Given the description of an element on the screen output the (x, y) to click on. 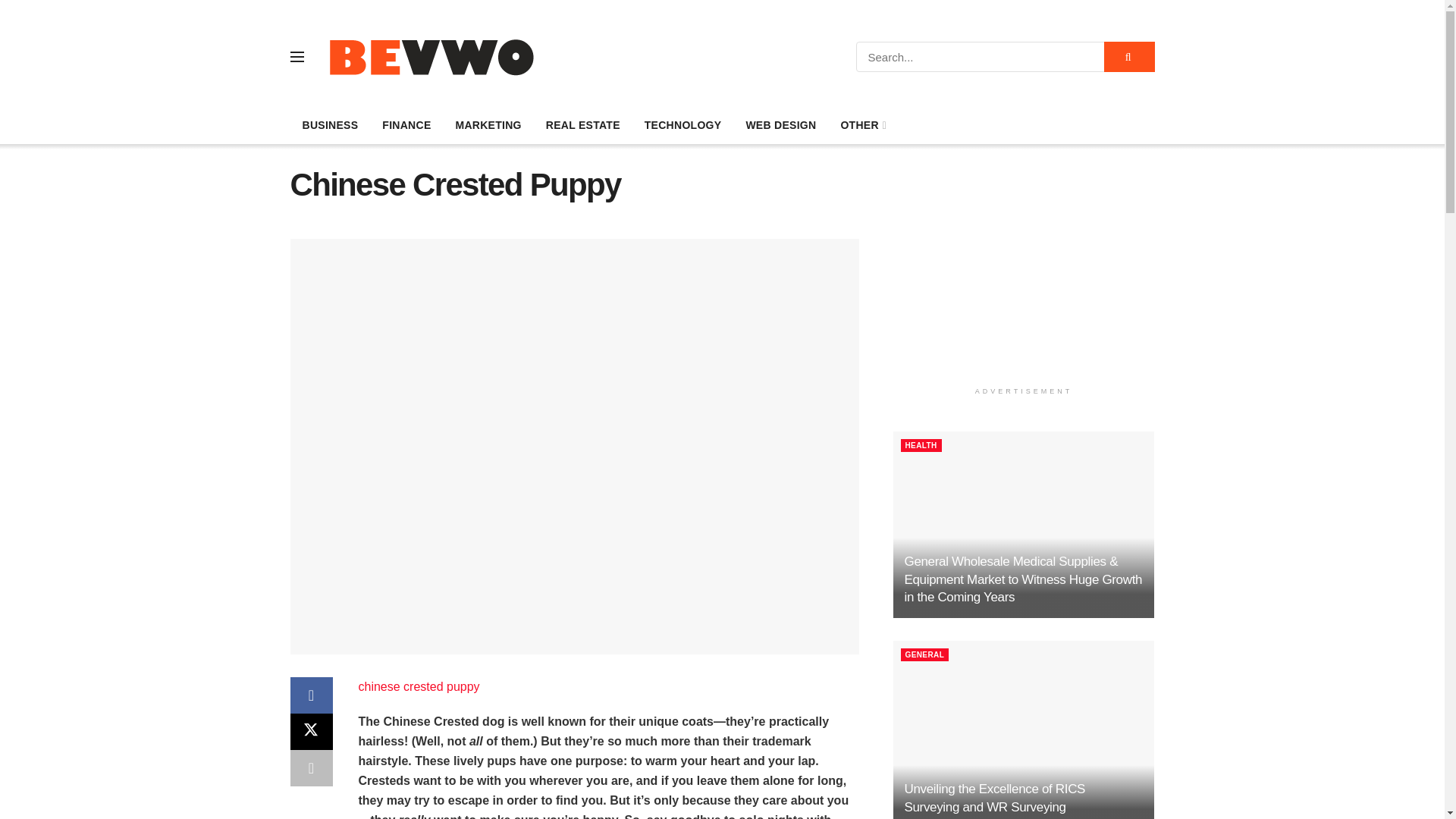
OTHER (862, 125)
BUSINESS (329, 125)
FINANCE (405, 125)
WEB DESIGN (780, 125)
REAL ESTATE (582, 125)
TECHNOLOGY (682, 125)
MARKETING (487, 125)
